Given the description of an element on the screen output the (x, y) to click on. 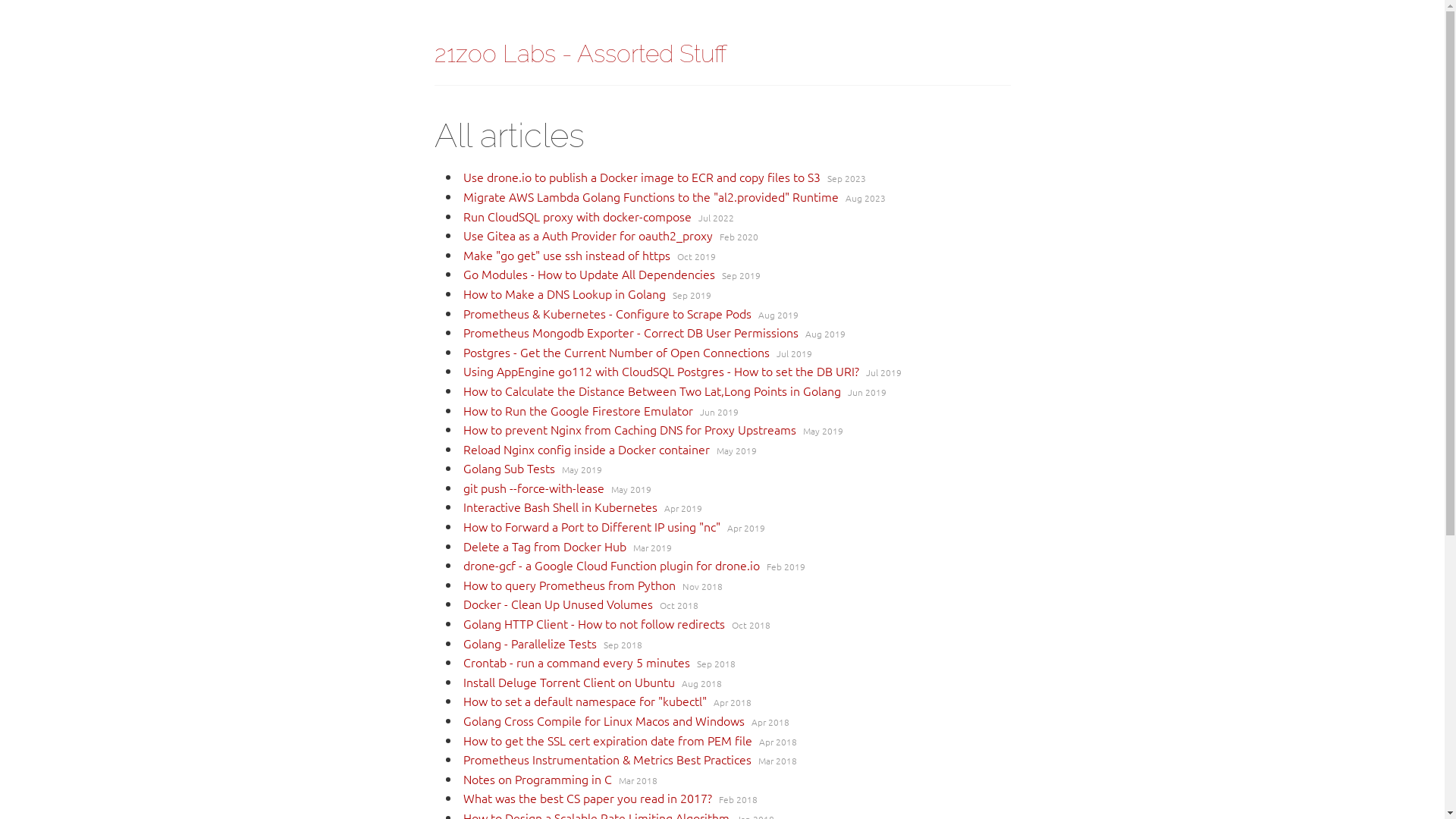
Golang Cross Compile for Linux Macos and Windows Element type: text (602, 720)
Postgres - Get the Current Number of Open Connections Element type: text (615, 351)
What was the best CS paper you read in 2017? Element type: text (586, 797)
Run CloudSQL proxy with docker-compose Element type: text (576, 215)
Crontab - run a command every 5 minutes Element type: text (575, 661)
How to Run the Google Firestore Emulator Element type: text (577, 409)
Go Modules - How to Update All Dependencies Element type: text (588, 273)
How to query Prometheus from Python Element type: text (568, 584)
Notes on Programming in C Element type: text (536, 778)
Prometheus Instrumentation & Metrics Best Practices Element type: text (606, 758)
Prometheus & Kubernetes - Configure to Scrape Pods Element type: text (606, 312)
git push --force-with-lease Element type: text (532, 487)
21zoo Labs - Assorted Stuff Element type: text (579, 53)
How to Make a DNS Lookup in Golang Element type: text (563, 293)
Delete a Tag from Docker Hub Element type: text (543, 545)
How to prevent Nginx from Caching DNS for Proxy Upstreams Element type: text (628, 428)
Golang Sub Tests Element type: text (508, 467)
How to set a default namespace for "kubectl" Element type: text (584, 700)
Golang - Parallelize Tests Element type: text (529, 642)
Interactive Bash Shell in Kubernetes Element type: text (559, 506)
Reload Nginx config inside a Docker container Element type: text (585, 448)
Prometheus Mongodb Exporter - Correct DB User Permissions Element type: text (629, 331)
Docker - Clean Up Unused Volumes Element type: text (557, 603)
Make "go get" use ssh instead of https Element type: text (565, 254)
Use Gitea as a Auth Provider for oauth2_proxy Element type: text (587, 234)
How to get the SSL cert expiration date from PEM file Element type: text (606, 739)
How to Forward a Port to Different IP using "nc" Element type: text (590, 525)
drone-gcf - a Google Cloud Function plugin for drone.io Element type: text (610, 564)
Golang HTTP Client - How to not follow redirects Element type: text (593, 623)
Install Deluge Torrent Client on Ubuntu Element type: text (568, 681)
